Given the description of an element on the screen output the (x, y) to click on. 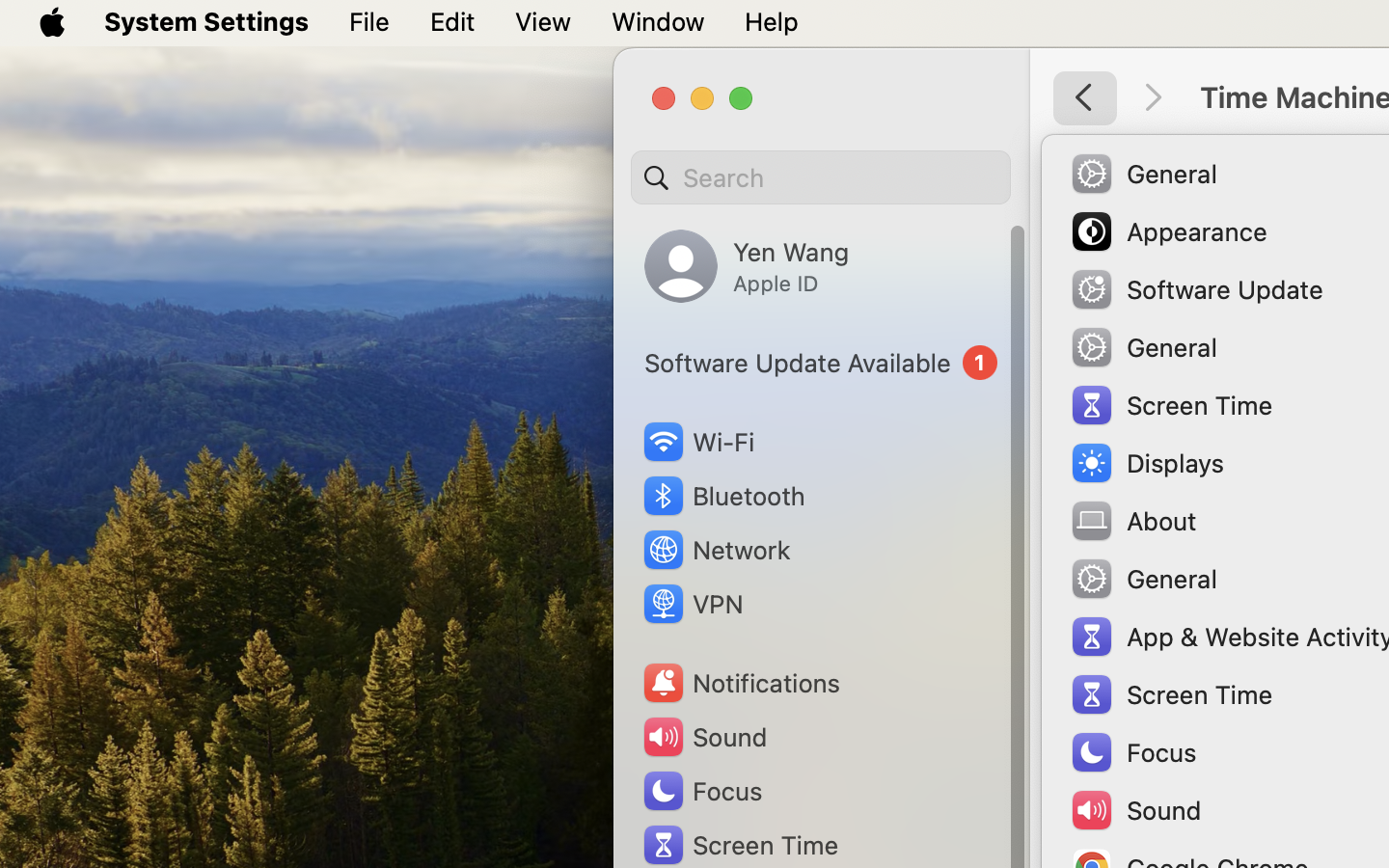
Screen Time Element type: AXStaticText (739, 844)
